Given the description of an element on the screen output the (x, y) to click on. 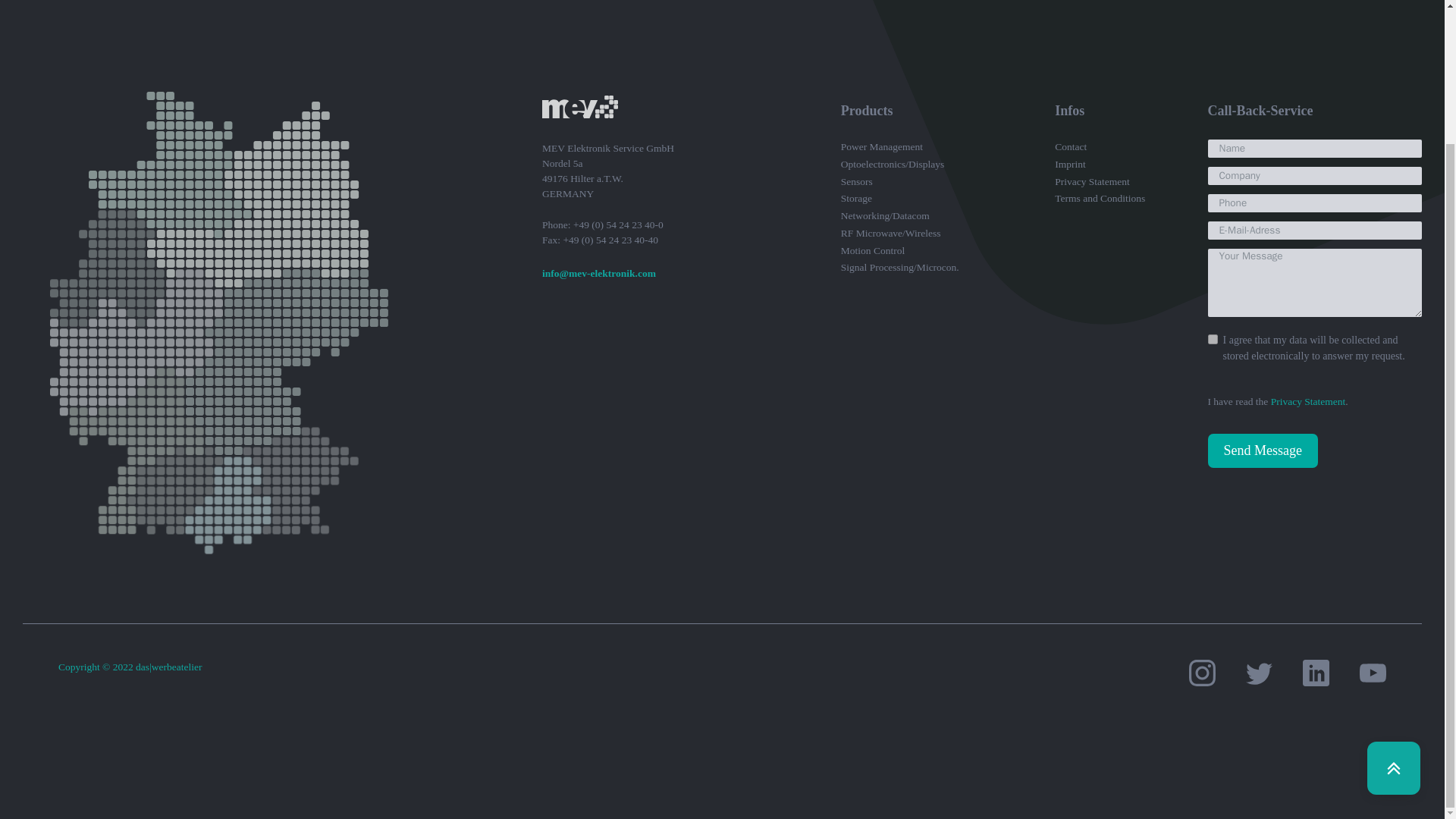
Privacy Statement (1308, 401)
on (1212, 338)
